Given the description of an element on the screen output the (x, y) to click on. 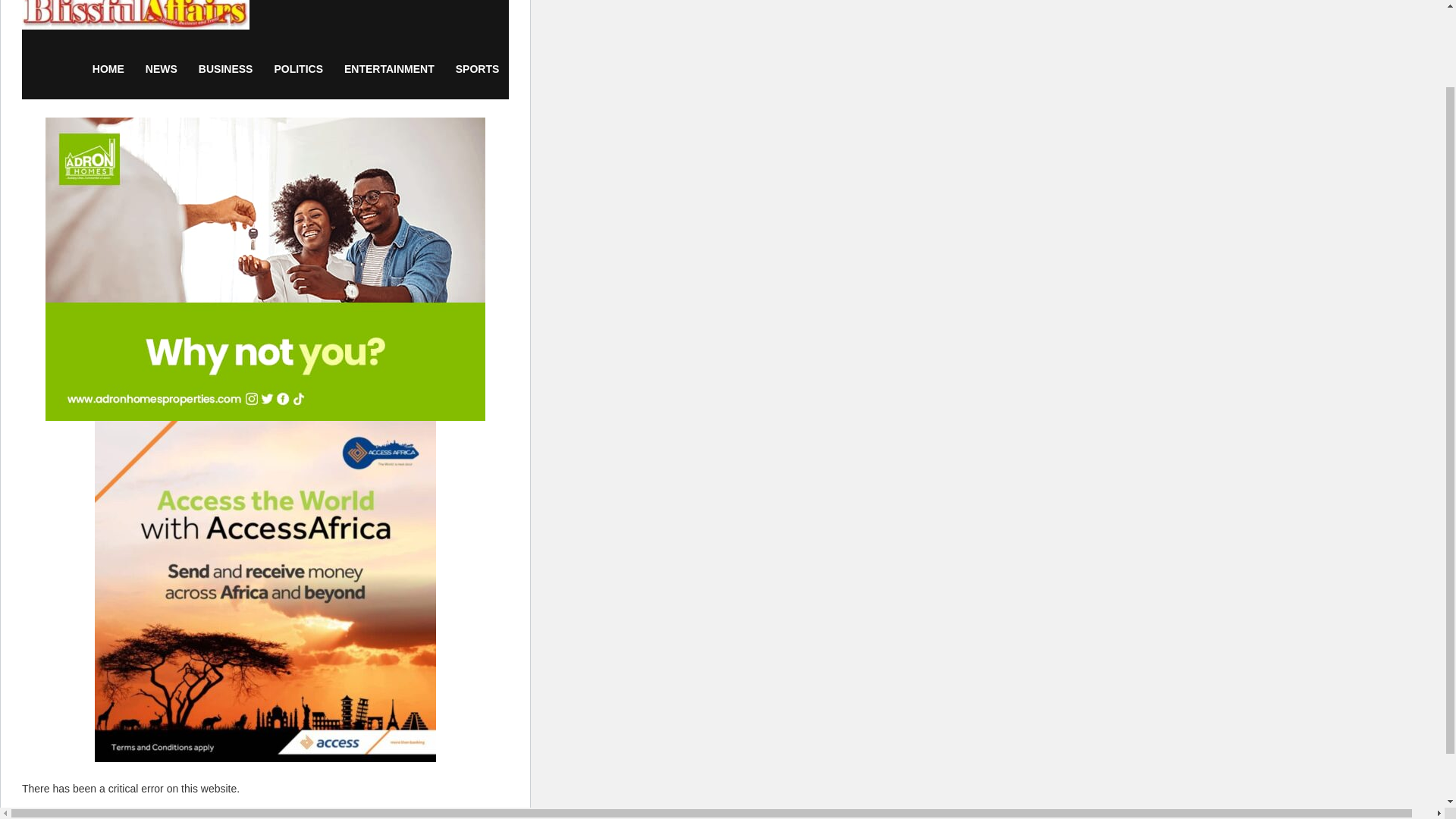
SPORTS (478, 68)
Blissfulaffairsonline (134, 19)
ENTERTAINMENT (389, 68)
POLITICS (298, 68)
BUSINESS (225, 68)
